Given the description of an element on the screen output the (x, y) to click on. 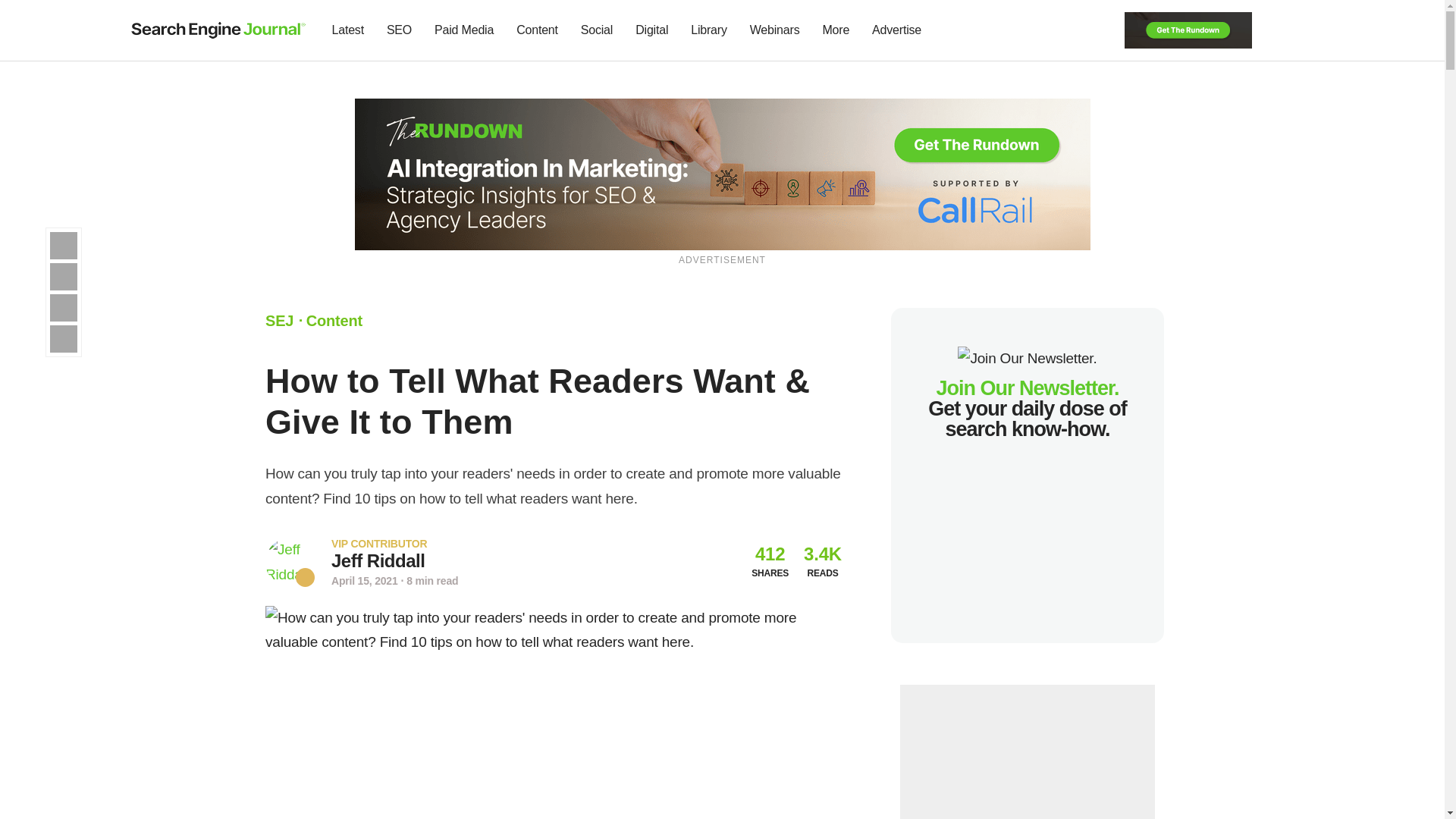
Get The Rundown (722, 172)
Subscribe to our Newsletter (1277, 30)
Paid Media (464, 30)
Get The Rundown (1187, 28)
Go to Author Page (289, 562)
Go to Author Page (378, 560)
Latest (347, 30)
